Given the description of an element on the screen output the (x, y) to click on. 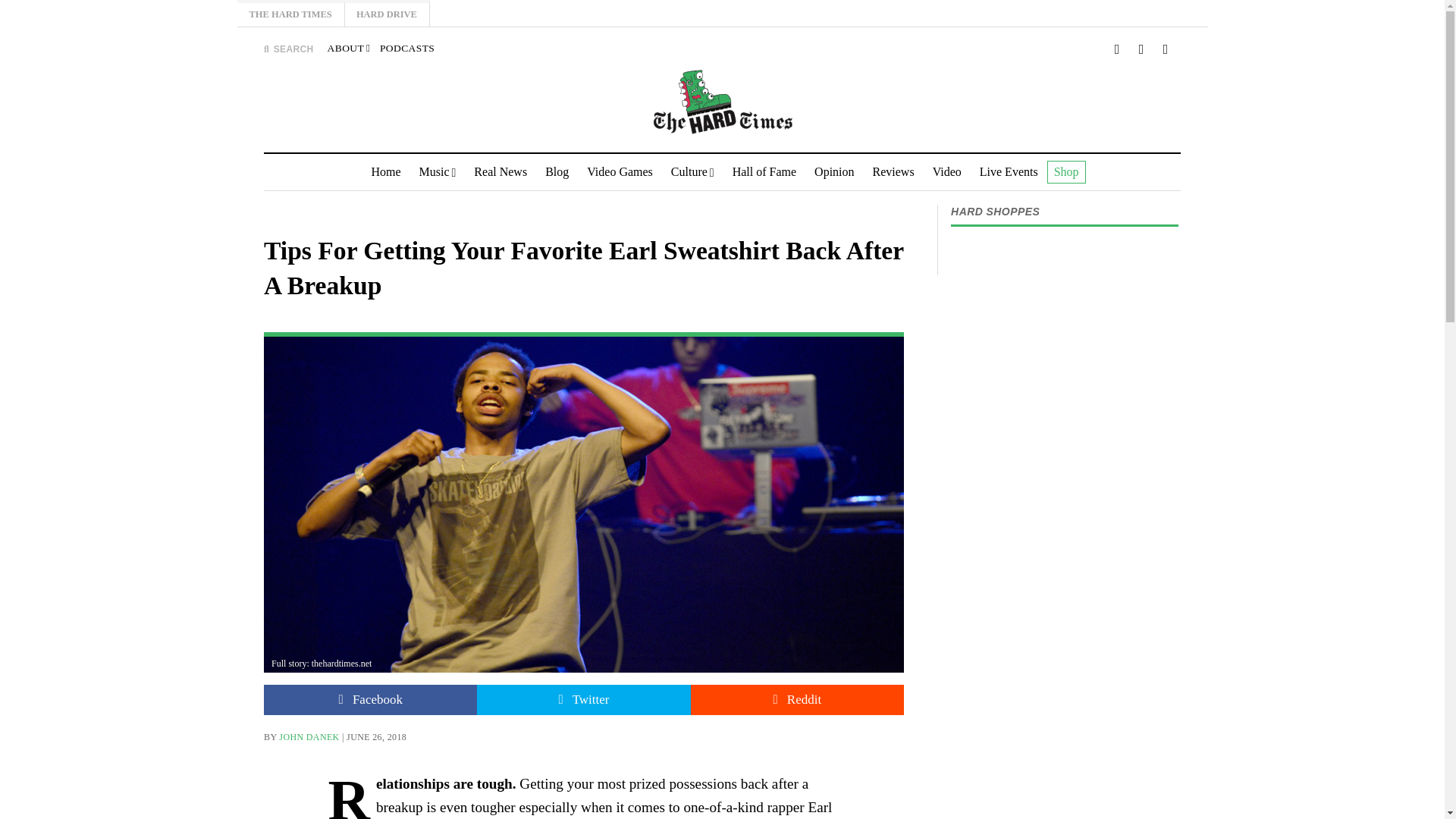
Posts by John Danek (309, 737)
ABOUT (349, 48)
Music (437, 171)
SEARCH (288, 48)
Real News (499, 171)
Search (943, 141)
HARD DRIVE (386, 14)
Blog (556, 171)
PODCASTS (406, 48)
Video Games (620, 171)
